Given the description of an element on the screen output the (x, y) to click on. 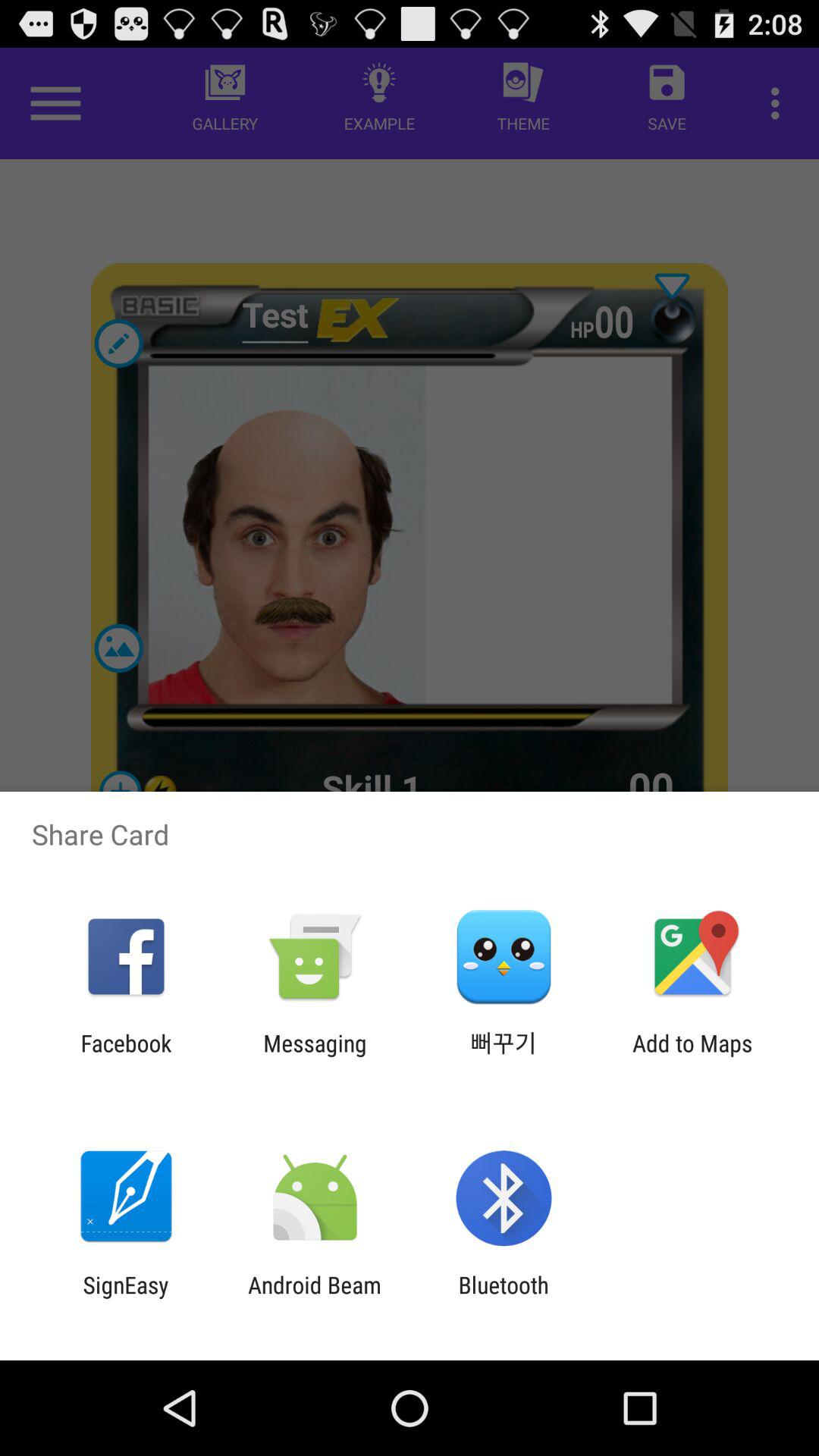
turn on app at the bottom right corner (692, 1056)
